Given the description of an element on the screen output the (x, y) to click on. 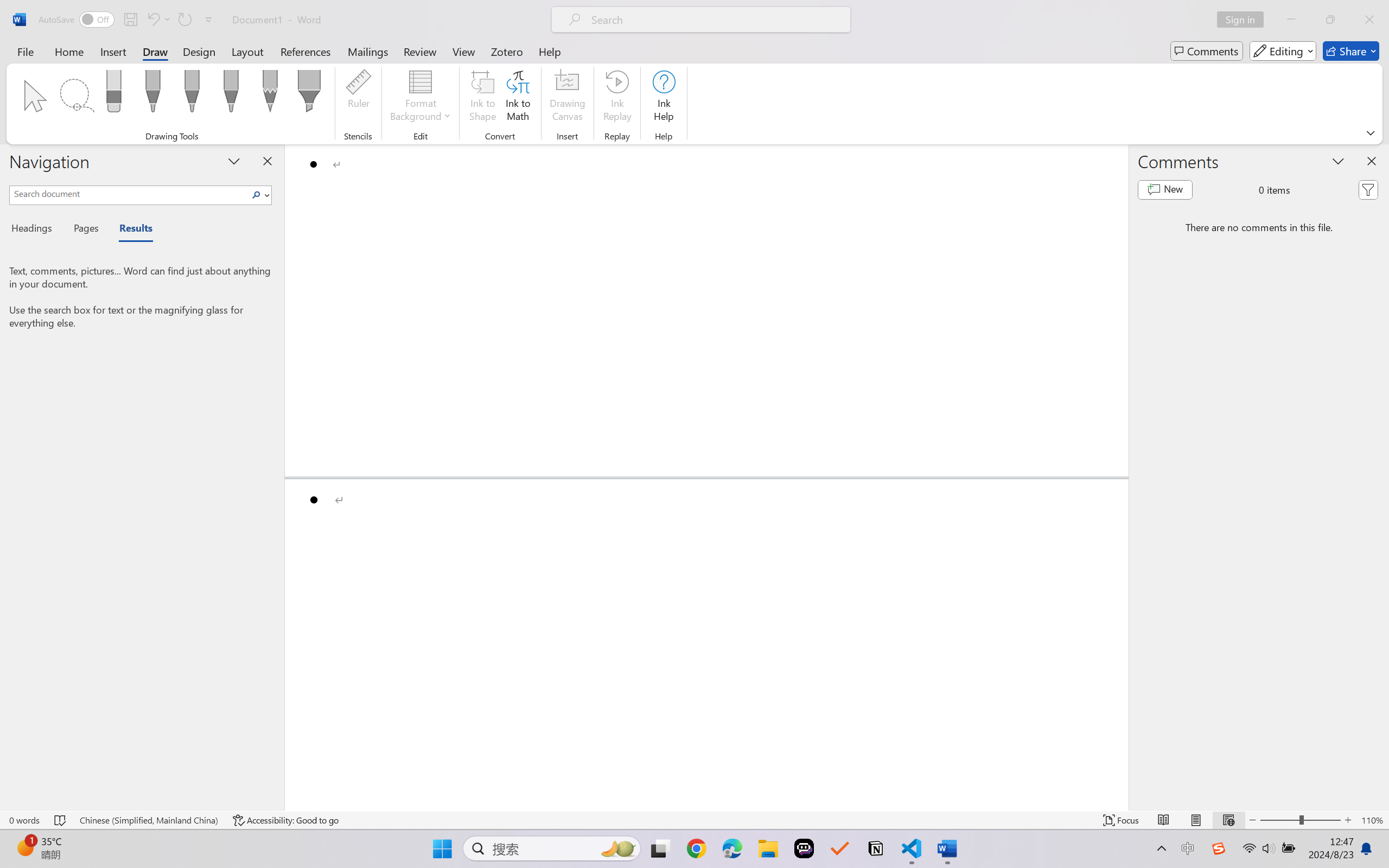
Undo Bullet Default (158, 19)
Drawing Canvas (567, 97)
